Given the description of an element on the screen output the (x, y) to click on. 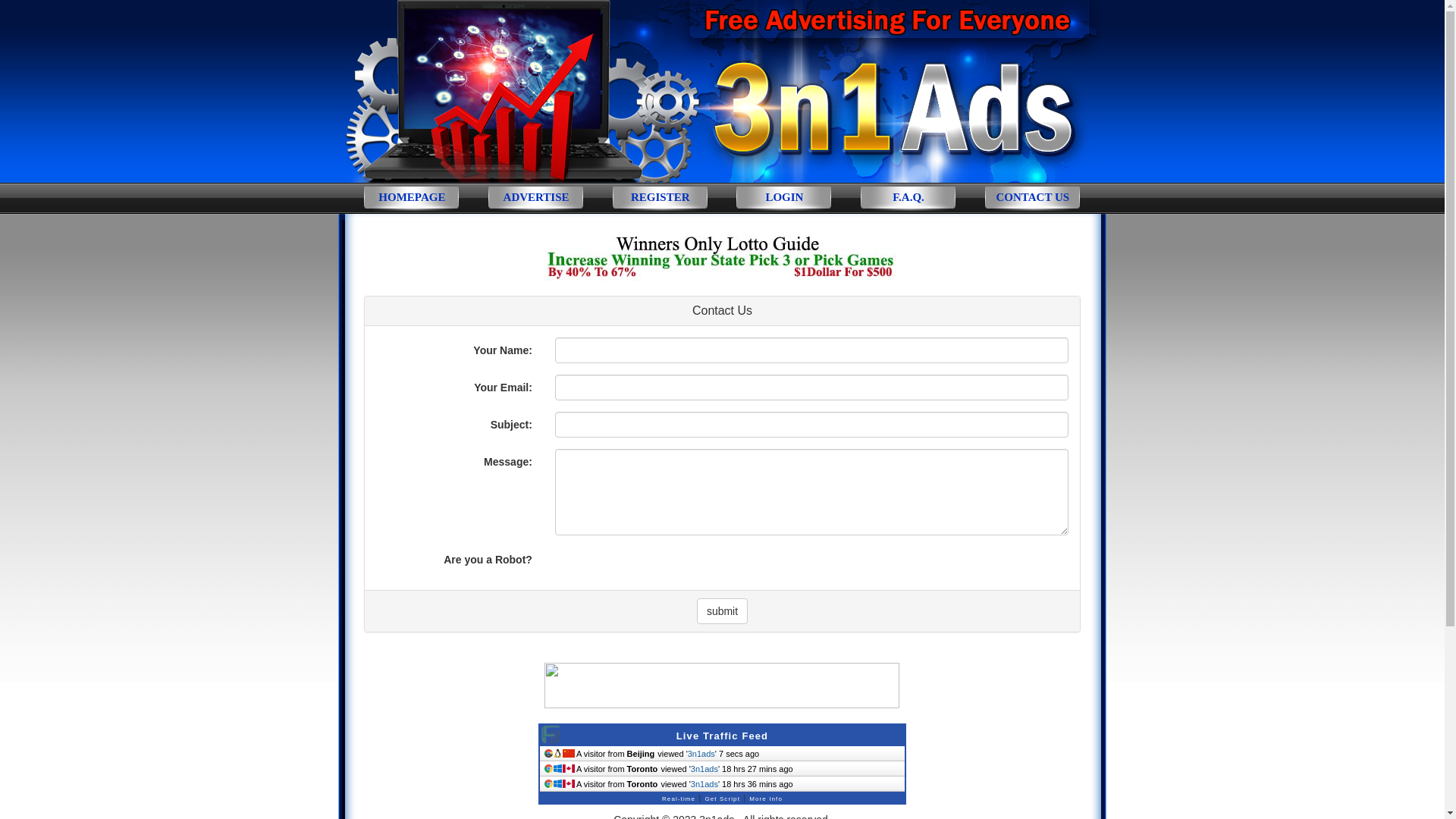
CONTACT US Element type: text (1032, 201)
More Info Element type: text (765, 796)
3n1ads Element type: text (704, 783)
Live Traffic Feed Element type: text (722, 735)
REGISTER Element type: text (660, 201)
HOMEPAGE Element type: text (411, 201)
Chrome Element type: hover (548, 768)
Real-time Element type: text (678, 796)
F.A.Q. Element type: text (908, 201)
Chrome Element type: hover (548, 783)
Canada Element type: hover (568, 768)
3n1ads Element type: text (701, 753)
China Element type: hover (568, 753)
Windows Element type: hover (557, 768)
submit Element type: text (721, 611)
Headless Chrome Element type: hover (548, 753)
Get Script Element type: text (722, 796)
Canada Element type: hover (568, 783)
LOGIN Element type: text (783, 201)
GNU Linux Element type: hover (557, 753)
Windows Element type: hover (557, 783)
ADVERTISE Element type: text (535, 201)
3n1ads Element type: text (704, 768)
